Given the description of an element on the screen output the (x, y) to click on. 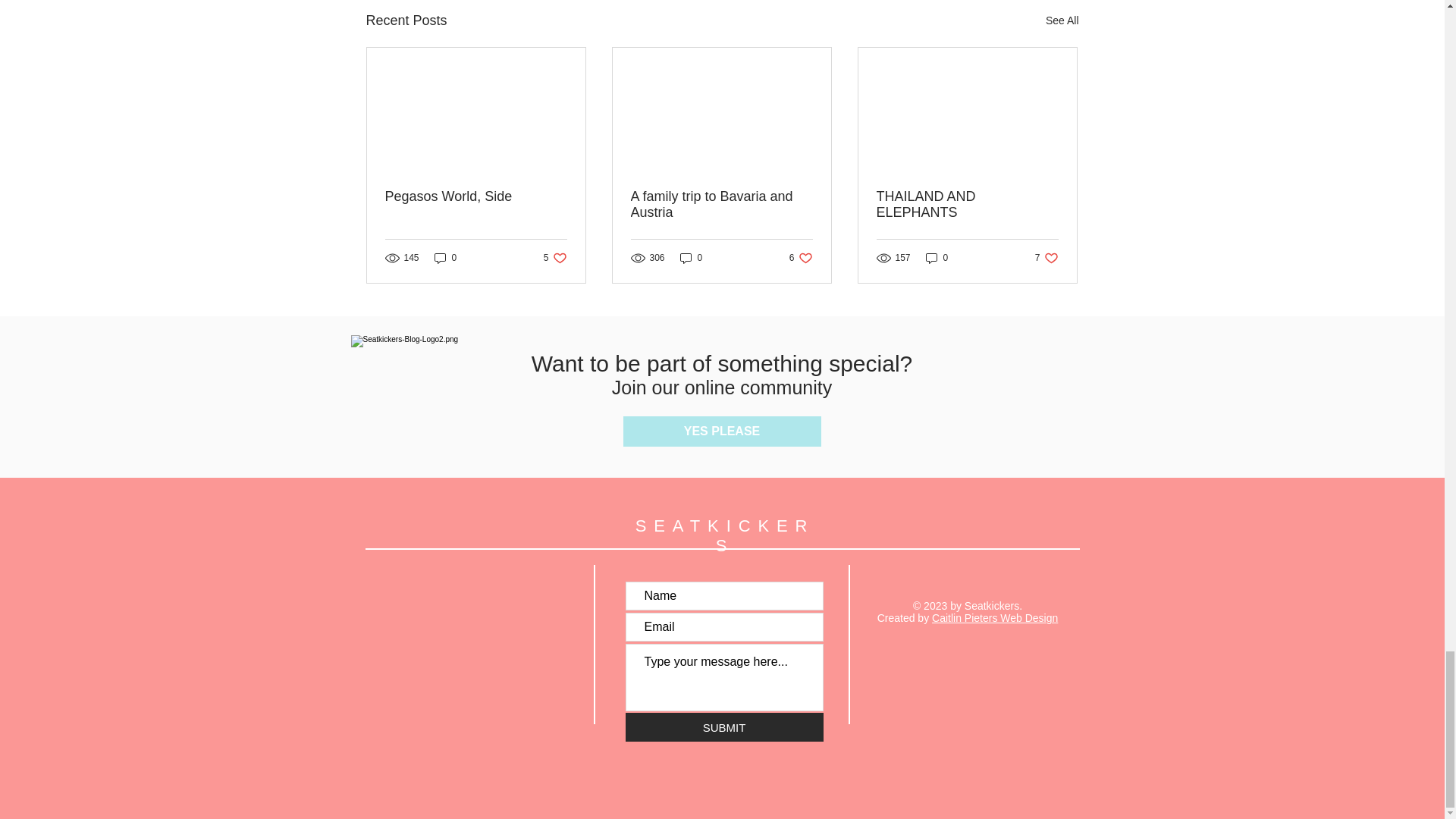
Want to be part of something special? (721, 363)
YES PLEASE (722, 431)
A family trip to Bavaria and Austria (555, 257)
0 (1046, 257)
See All (721, 204)
THAILAND AND ELEPHANTS (937, 257)
0 (800, 257)
